Given the description of an element on the screen output the (x, y) to click on. 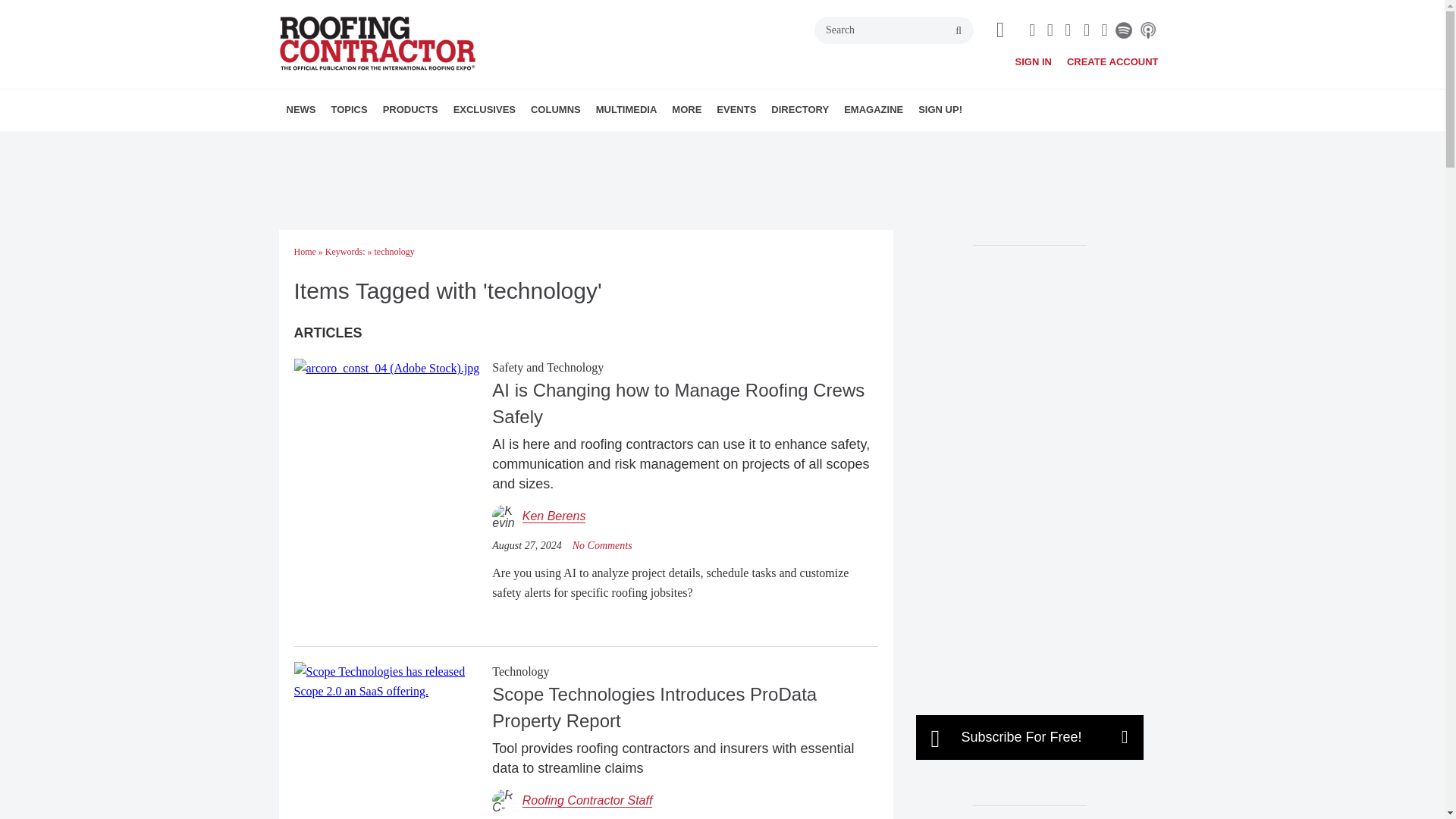
PRODUCTS (410, 109)
AI is Changing how to Manage Roofing Crews Safely (387, 367)
PROJECT PROFILES (445, 143)
SIGN IN (1032, 61)
IRE SHOW (552, 143)
Search (893, 30)
SUSTAINABLE ROOFING (458, 143)
TECHNOLOGY (461, 143)
AI is Changing how to Manage Roofing Crews Safely (601, 545)
Search (893, 30)
